Given the description of an element on the screen output the (x, y) to click on. 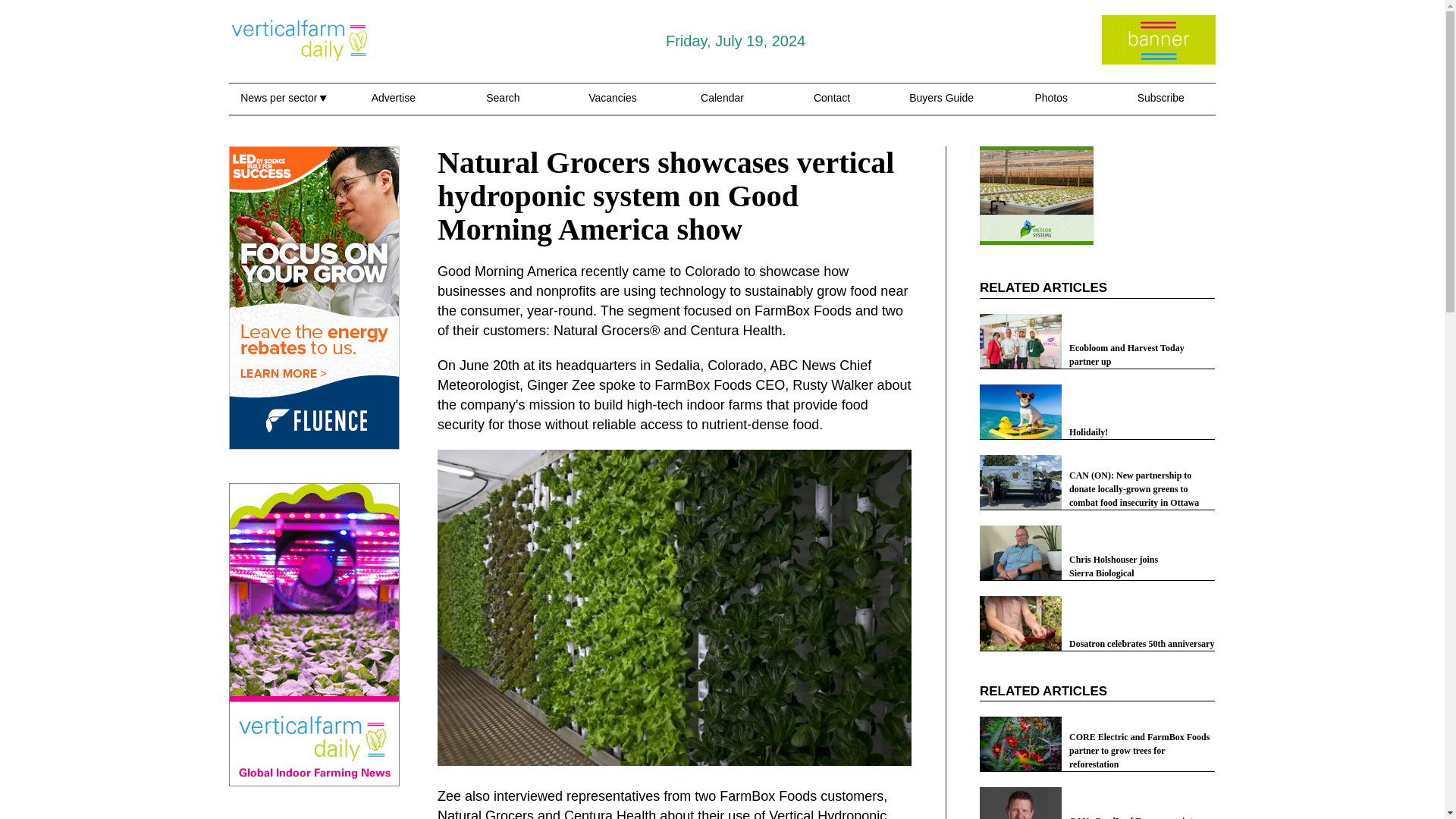
Search (502, 106)
Advertise (392, 106)
News per sector (283, 106)
